Given the description of an element on the screen output the (x, y) to click on. 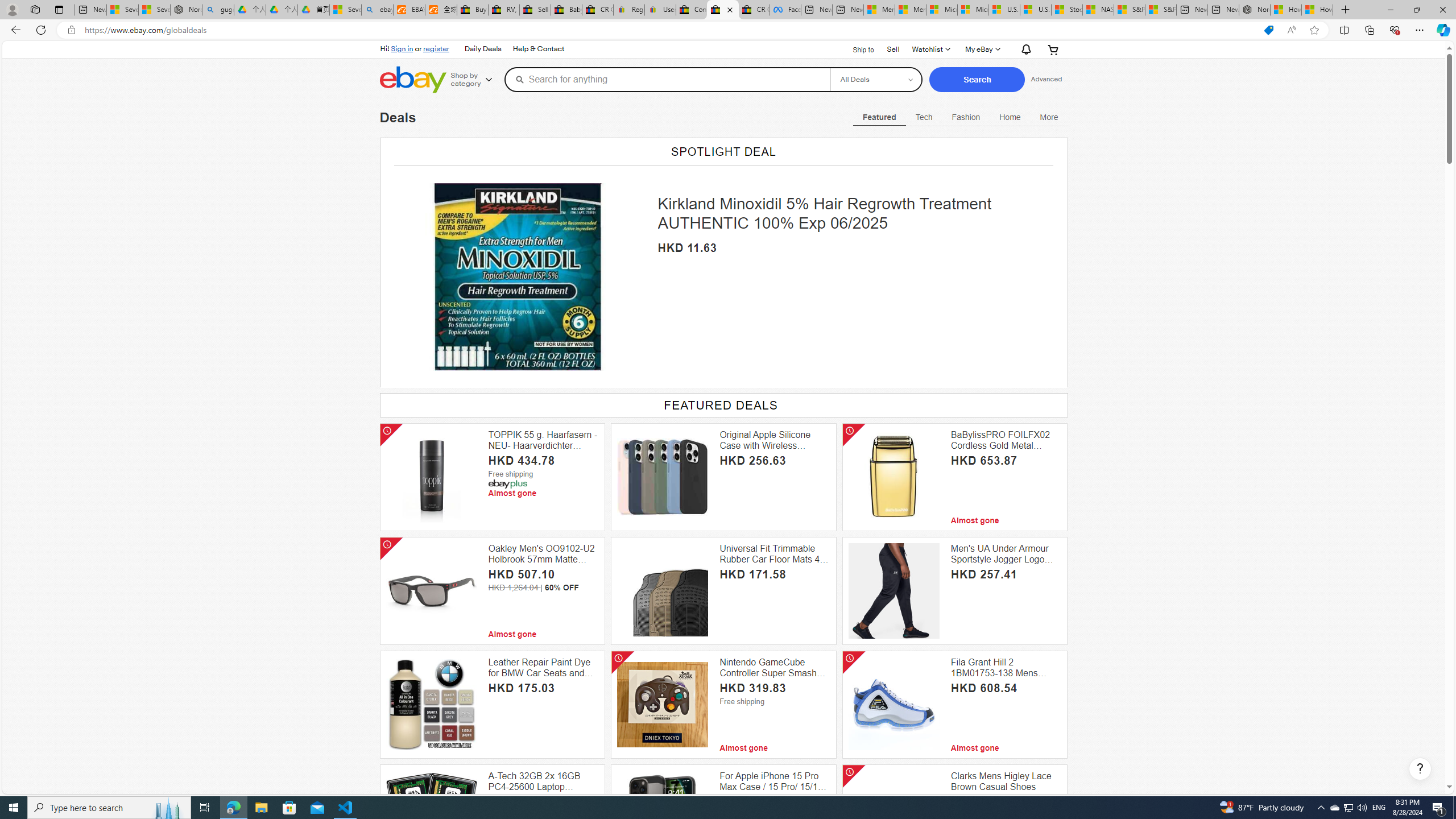
Home (1010, 116)
ebay - Search (376, 9)
How to Use a Monitor With Your Closed Laptop (1317, 9)
guge yunpan - Search (218, 9)
Settings and more (Alt+F) (1419, 29)
Oakley Men's OO9102-U2 Holbrook 57mm Matte Black Sunglasses (543, 553)
Class: navigation-desktop-with-flyout open-left (1048, 114)
Sell (892, 49)
Sell (893, 48)
Buy Auto Parts & Accessories | eBay (472, 9)
